Given the description of an element on the screen output the (x, y) to click on. 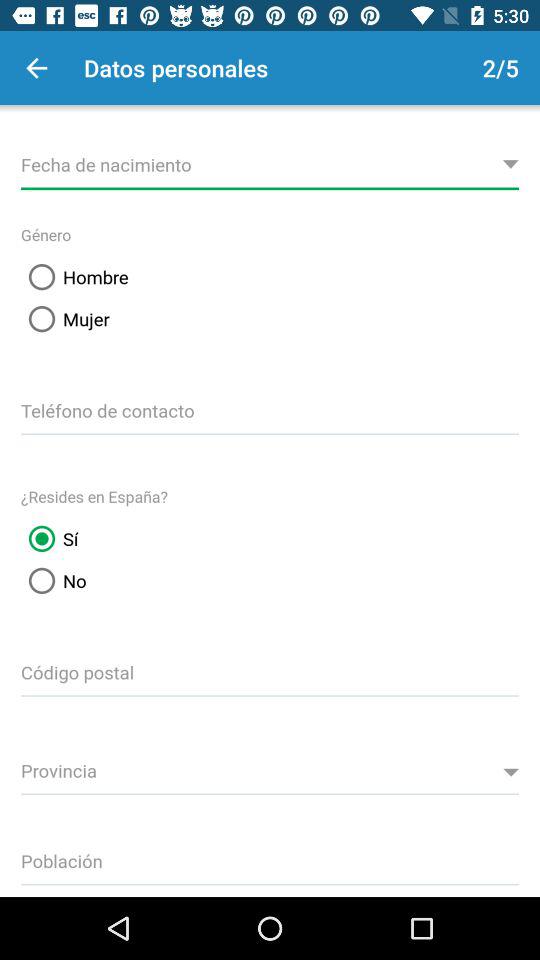
click more details (270, 162)
